Given the description of an element on the screen output the (x, y) to click on. 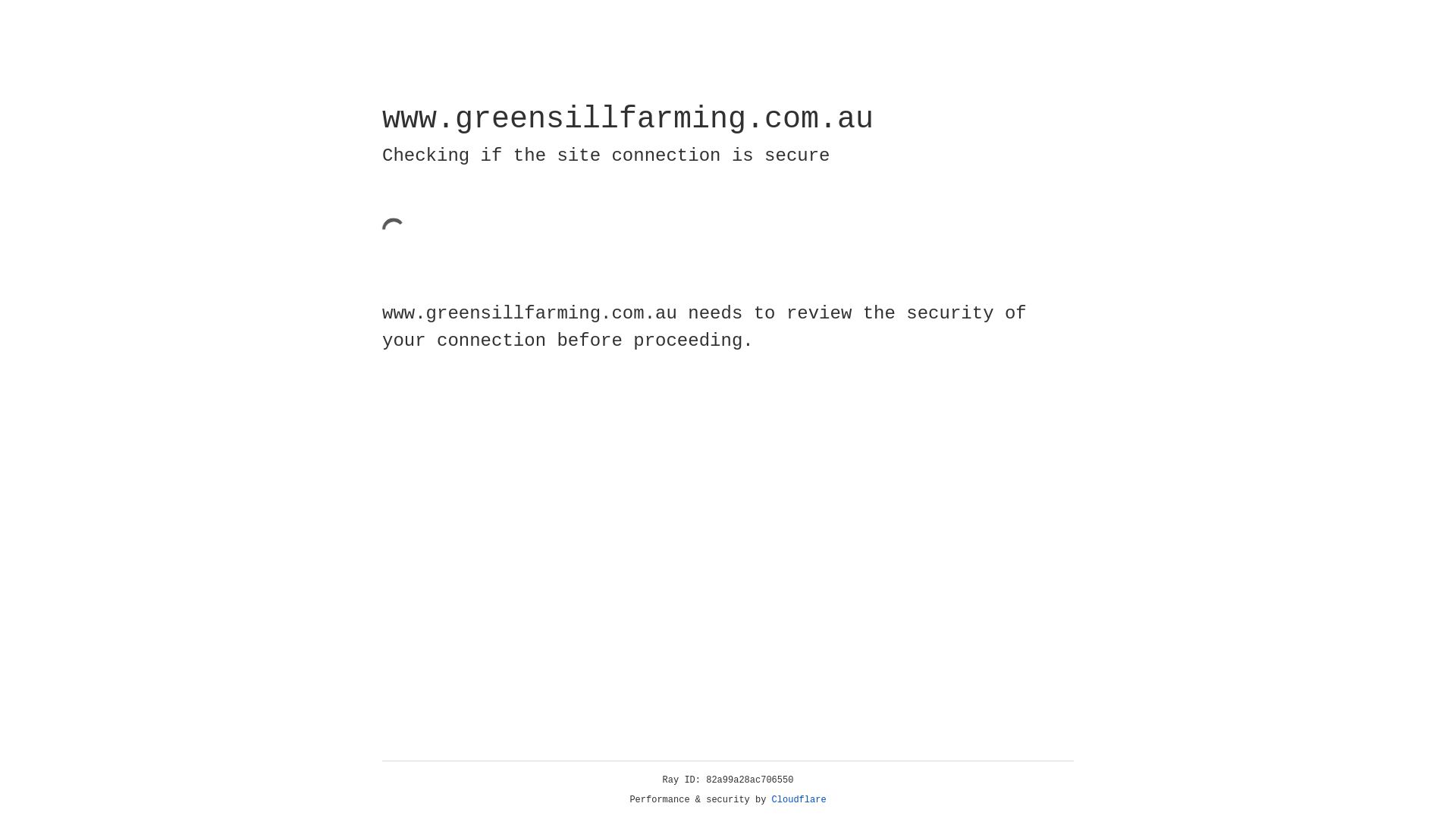
Cloudflare Element type: text (798, 799)
